Given the description of an element on the screen output the (x, y) to click on. 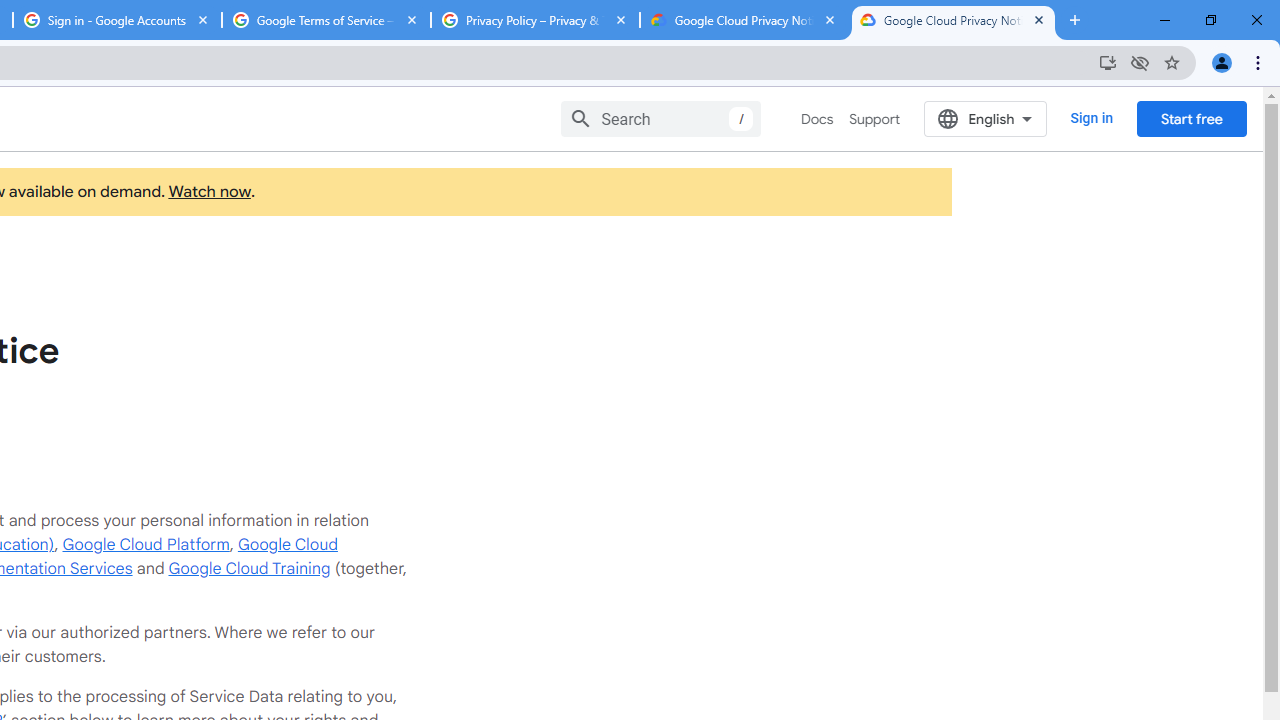
Sign in - Google Accounts (116, 20)
Google Cloud Platform (145, 544)
Install Google Cloud (1107, 62)
